Given the description of an element on the screen output the (x, y) to click on. 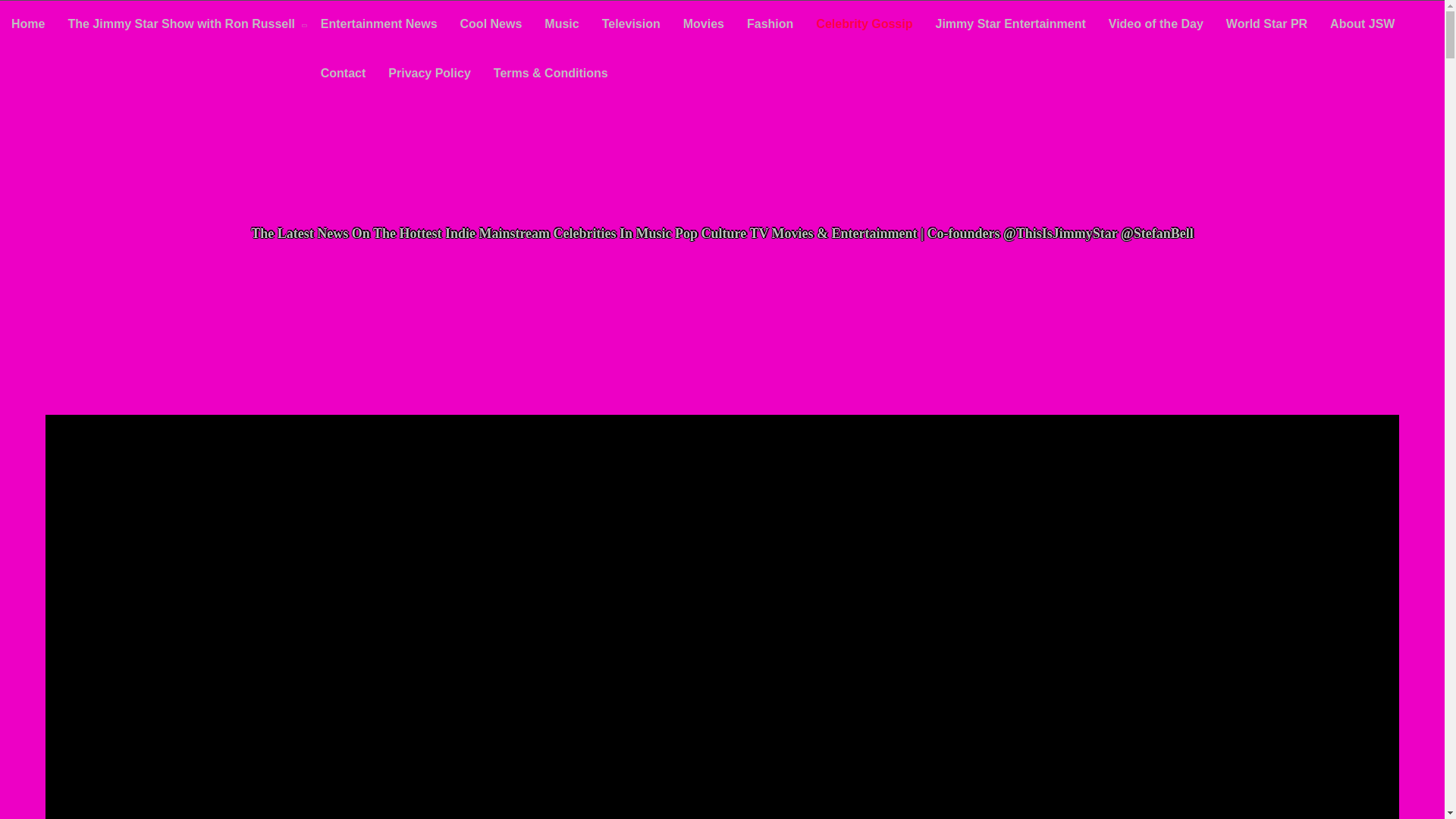
Fashion (770, 24)
Cool News (491, 24)
Music (560, 24)
Television (631, 24)
The Jimmy Star Show with Ron Russell (182, 25)
Entertainment News (378, 24)
Celebrity Gossip (864, 24)
Home (28, 24)
Movies (703, 24)
